Given the description of an element on the screen output the (x, y) to click on. 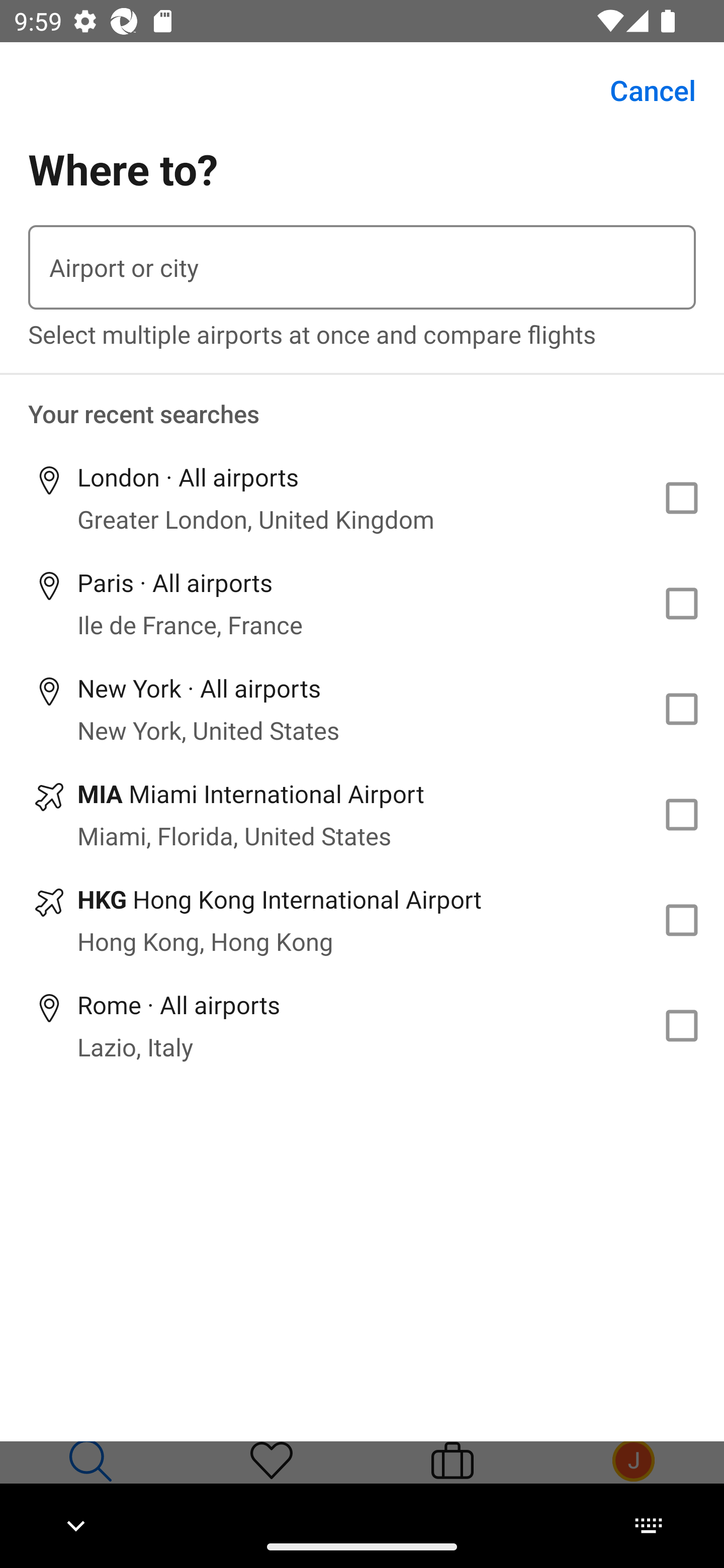
Cancel (641, 90)
Airport or city (361, 266)
Paris · All airports Ile de France, France (362, 603)
New York · All airports New York, United States (362, 709)
Rome · All airports Lazio, Italy (362, 1025)
